Given the description of an element on the screen output the (x, y) to click on. 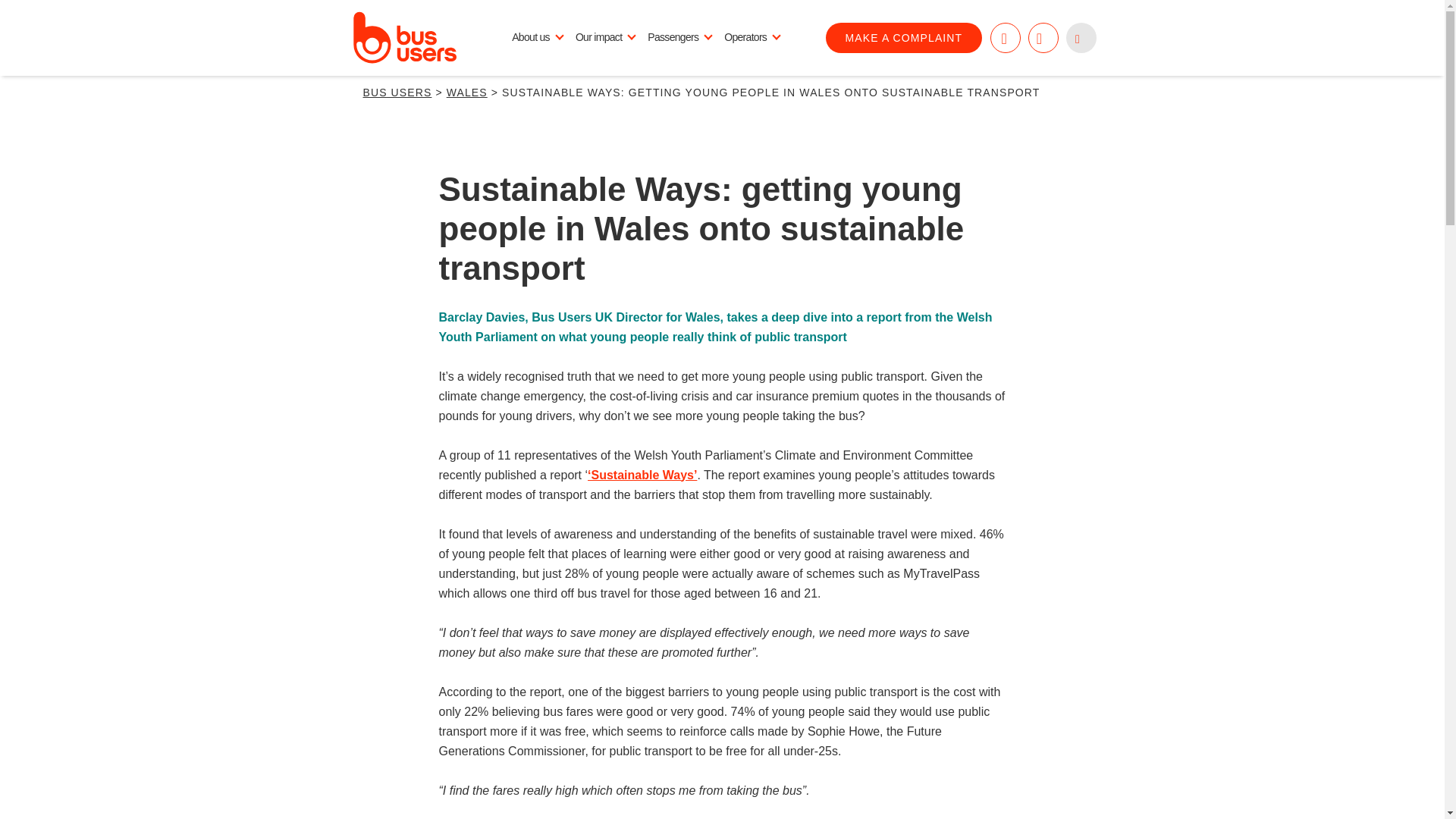
FACEBOOK (1005, 37)
Go to the Wales Category archives. (466, 92)
Our impact (604, 37)
Operators (751, 37)
MAKE A COMPLAINT (903, 37)
Passengers (679, 37)
About us (537, 37)
Go to Bus Users. (396, 92)
TWITTER (1042, 37)
